Given the description of an element on the screen output the (x, y) to click on. 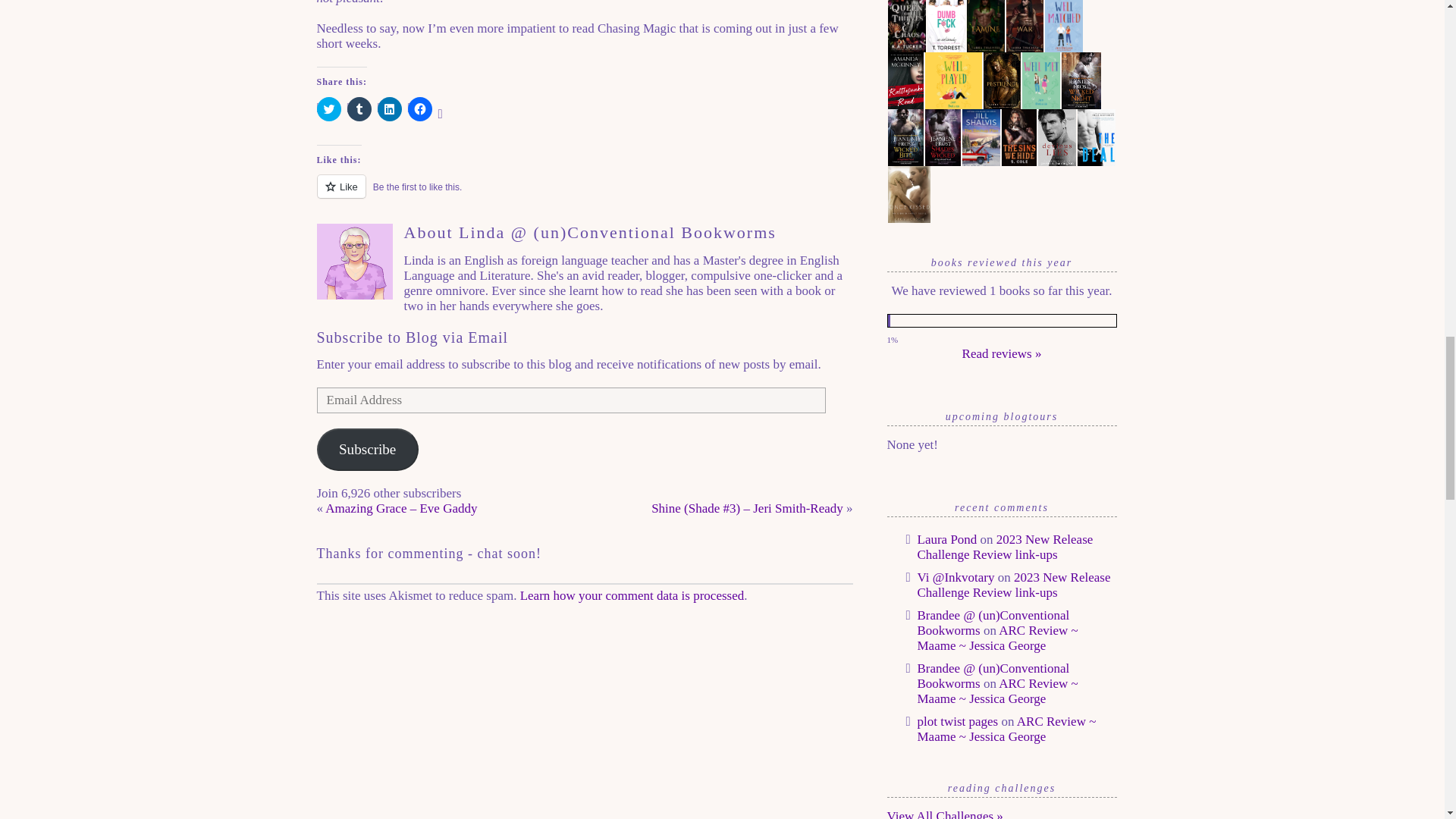
Click to share on LinkedIn (389, 109)
Click to share on Facebook (419, 109)
Like or Reblog (585, 195)
Click to share on Tumblr (359, 109)
Click to share on Twitter (328, 109)
